Given the description of an element on the screen output the (x, y) to click on. 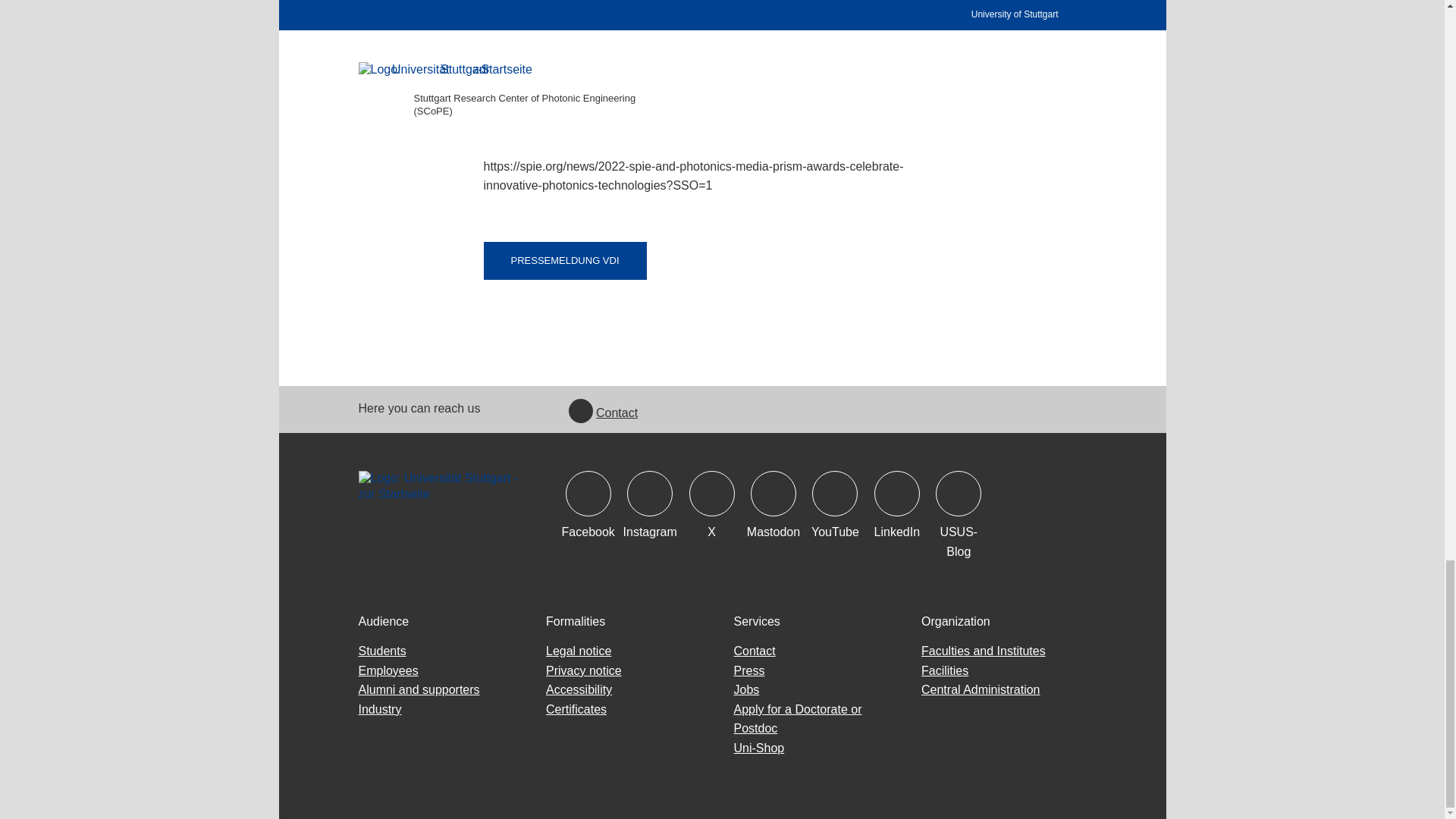
Icon: Mastodon (773, 493)
Icon: Facebook (588, 493)
Contact (603, 412)
Icon: YouTube (834, 493)
www.spie.org (595, 131)
PRESSEMELDUNG VDI (564, 260)
Icon: USUS-Blog (958, 493)
Icon: Instagram (649, 493)
Icon: LinkedIn (897, 493)
Students (382, 650)
Icon: X (711, 493)
